Given the description of an element on the screen output the (x, y) to click on. 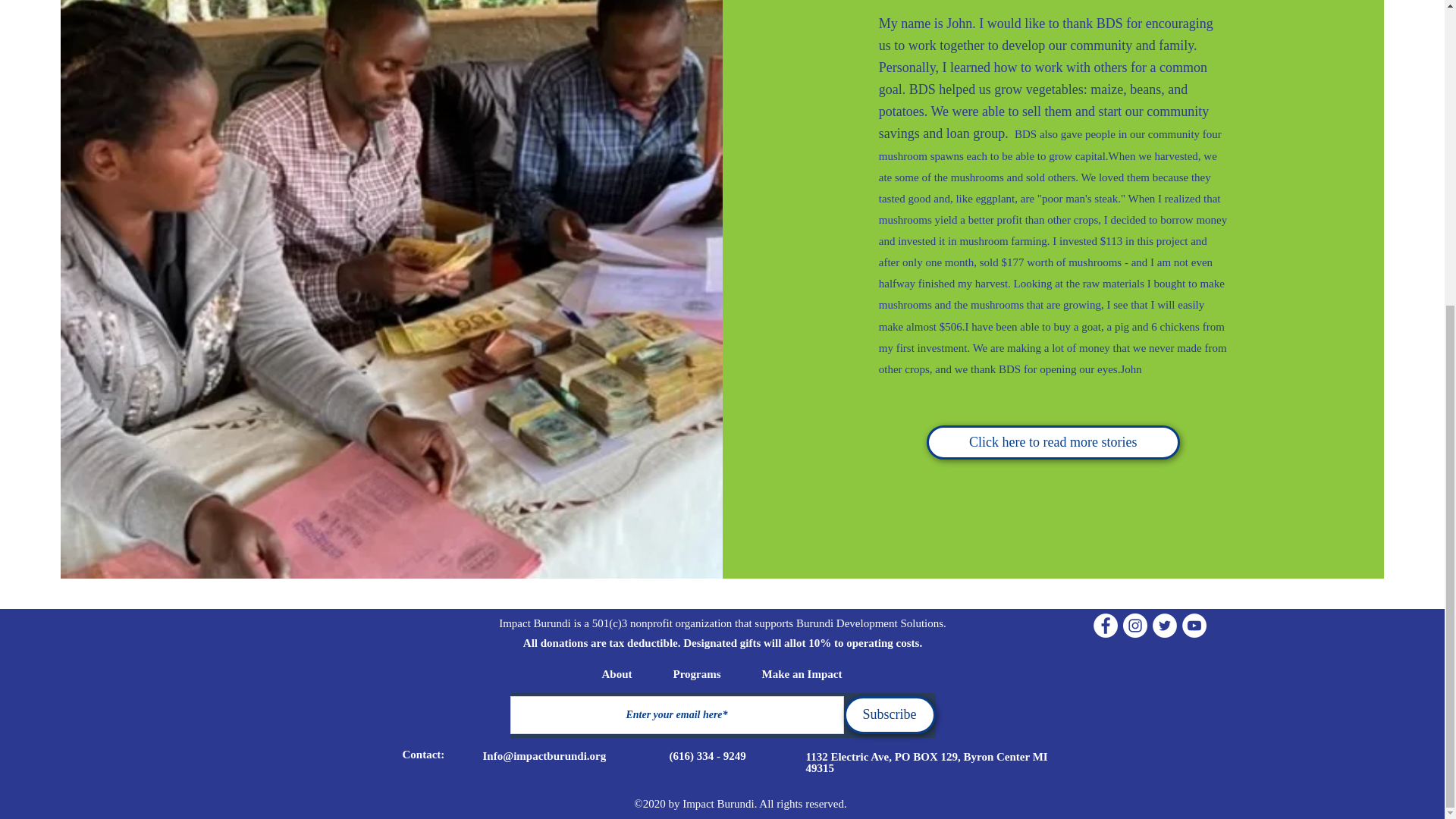
Subscribe (888, 714)
Programs (697, 673)
Make an Impact (801, 673)
Click here to read more stories (1052, 442)
